Given the description of an element on the screen output the (x, y) to click on. 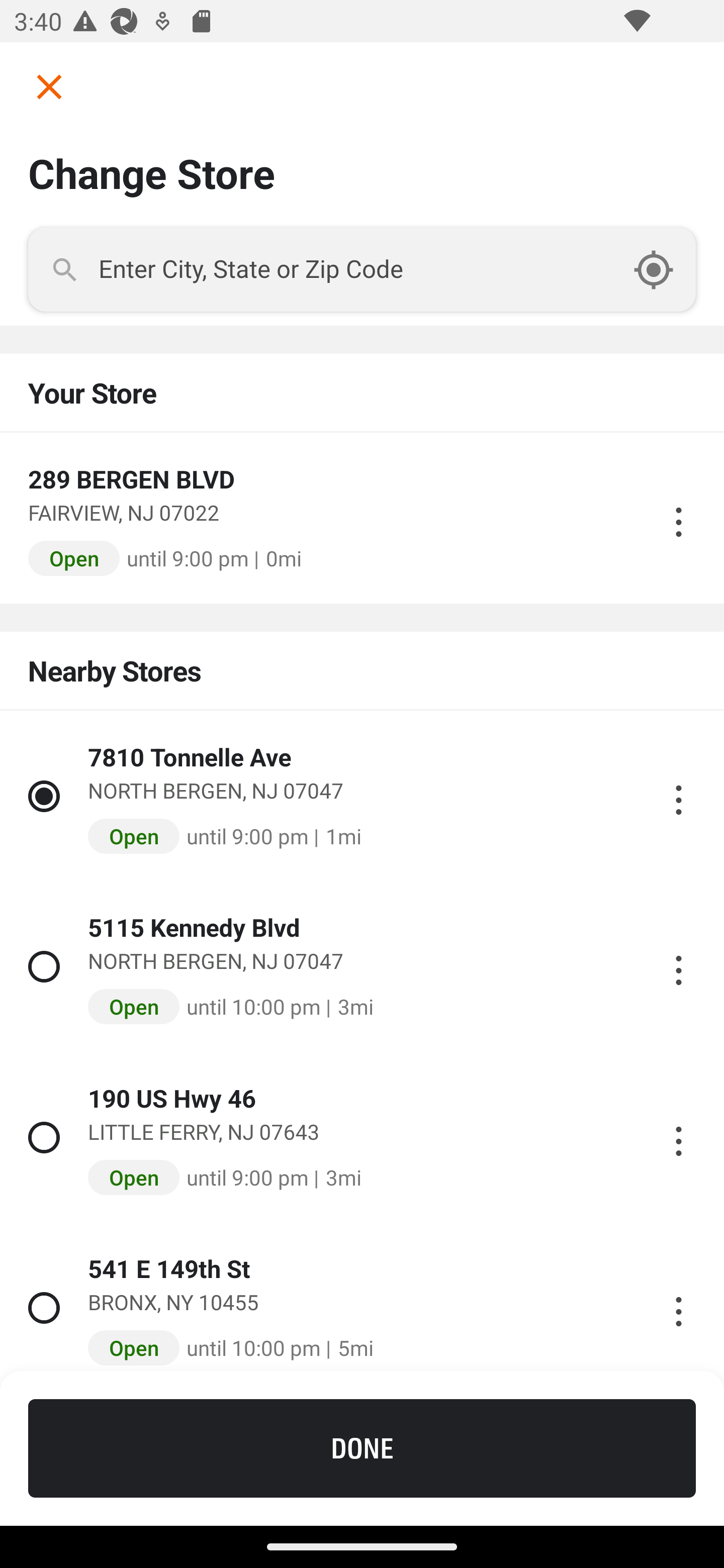
close-button  (42, 86)
Enter City, State or Zip Code search-bar-input (361, 269)
search-location-button  (663, 269)
more-actions-for-289 BERGEN BLVD ︙ (678, 517)
more-actions-for-7810 Tonnelle Ave ︙ (678, 796)
more-actions-for-5115 Kennedy Blvd ︙ (678, 966)
more-actions-for-190 US Hwy 46 ︙ (678, 1137)
more-actions-for-541 E 149th St ︙ (678, 1308)
DONE (361, 1447)
